Given the description of an element on the screen output the (x, y) to click on. 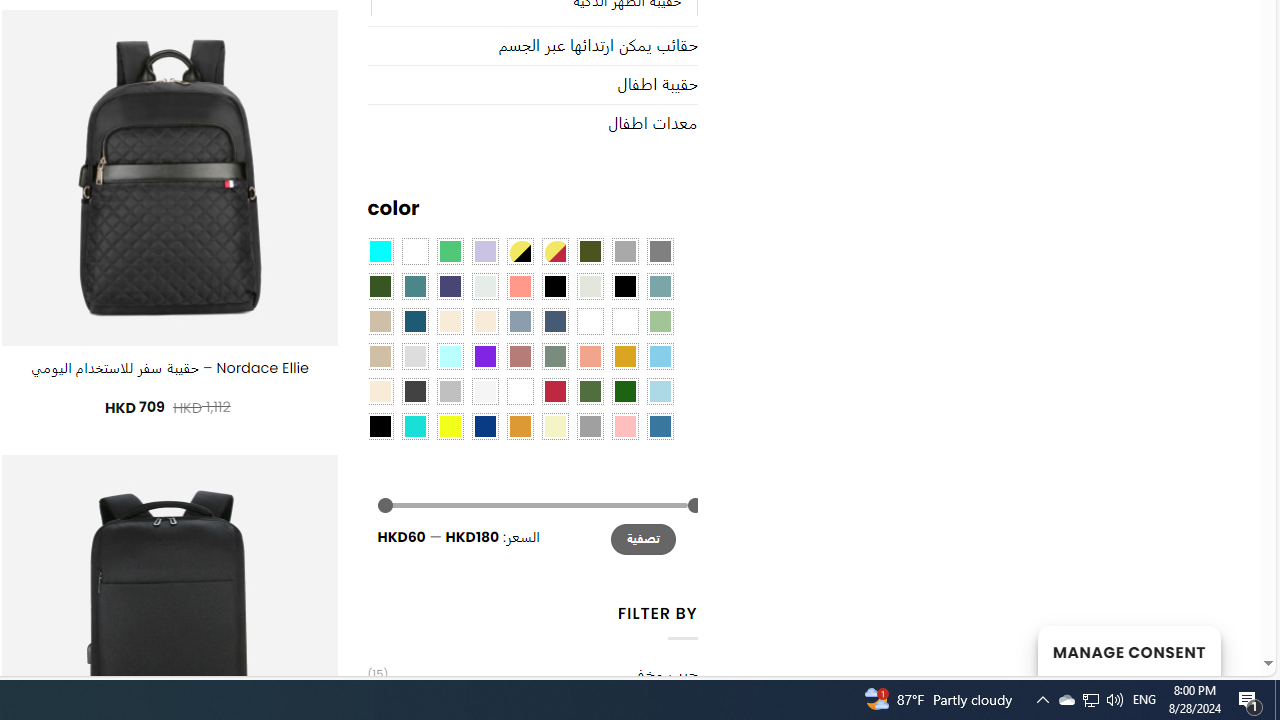
Brownie (379, 321)
